Given the description of an element on the screen output the (x, y) to click on. 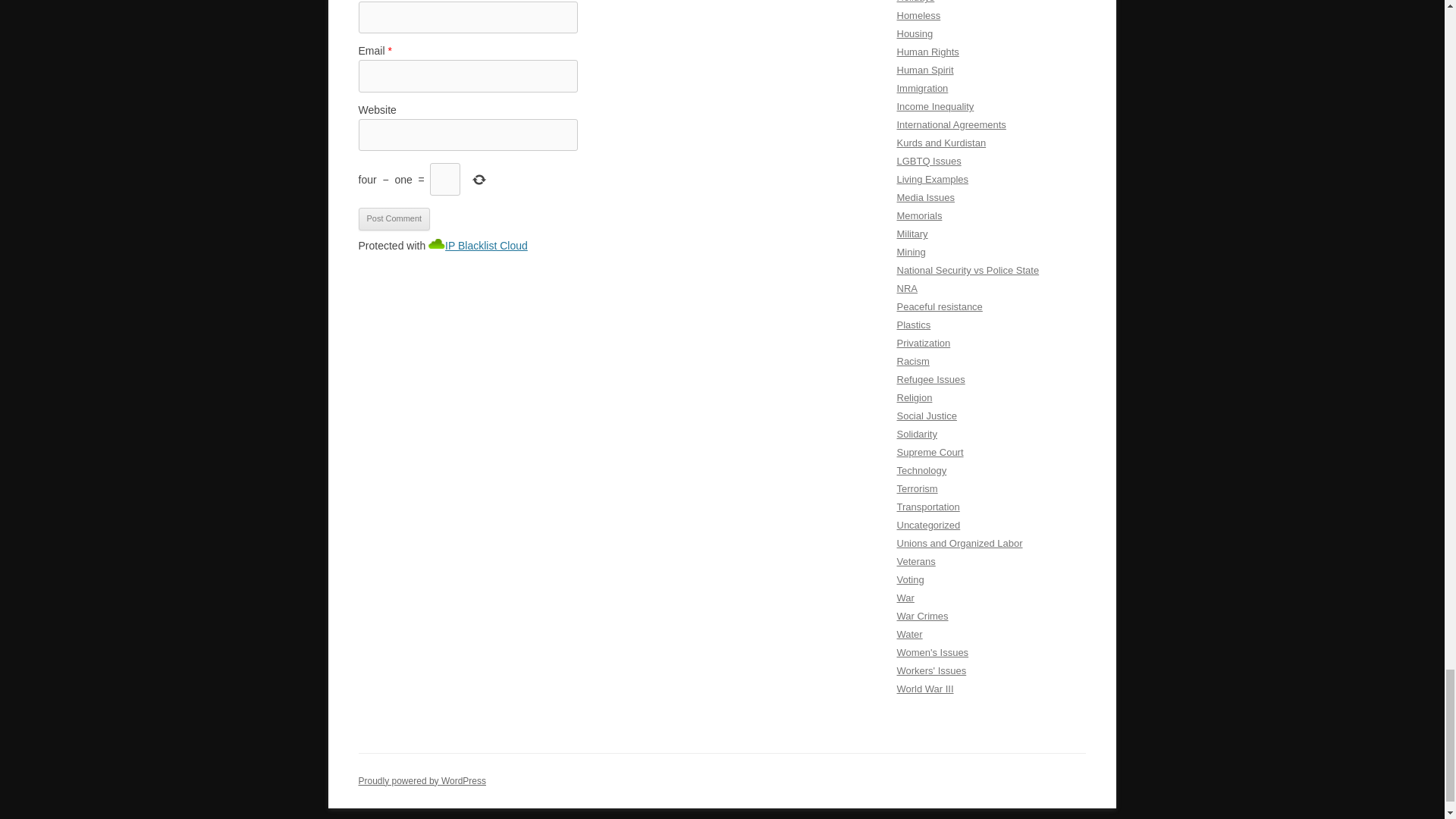
IP Blacklist Cloud (486, 245)
Post Comment (393, 219)
Semantic Personal Publishing Platform (422, 780)
